Given the description of an element on the screen output the (x, y) to click on. 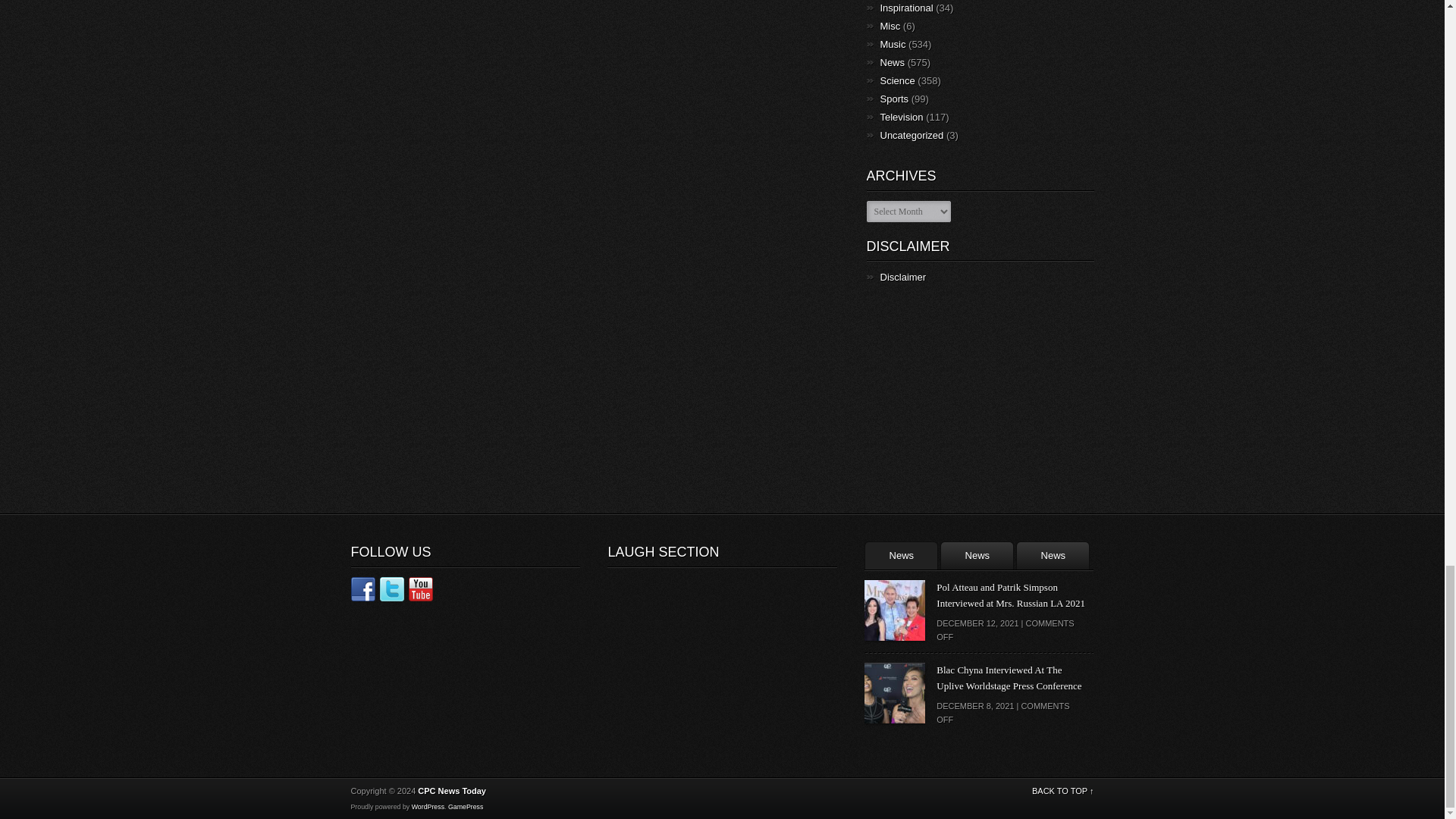
YouTube video player (682, 640)
